Given the description of an element on the screen output the (x, y) to click on. 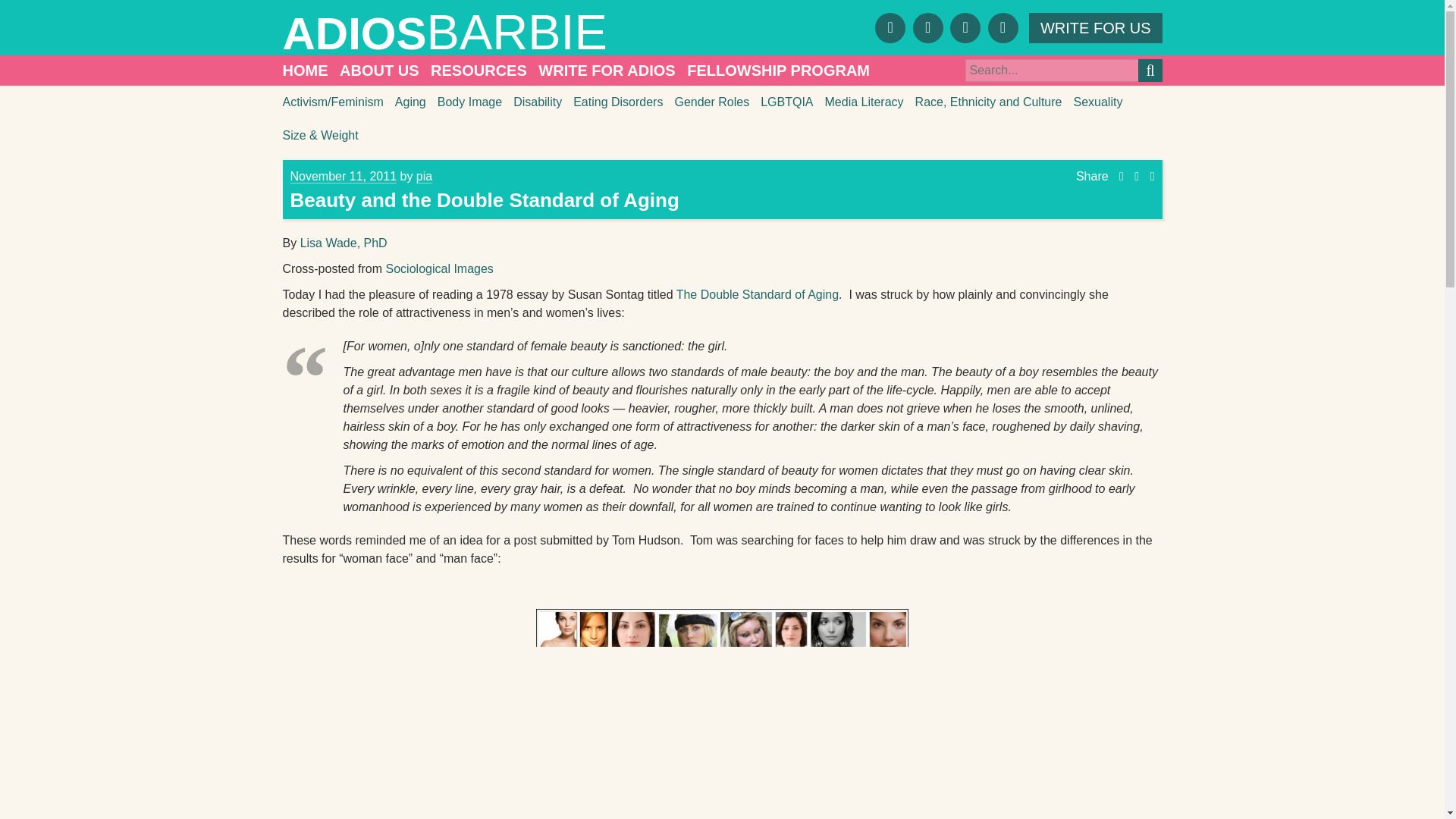
The Double Standard of Aging (757, 294)
Sociological Images (439, 268)
HOME (304, 70)
womenface (721, 705)
FELLOWSHIP PROGRAM (778, 70)
ABOUT US (379, 70)
WRITE FOR ADIOS (606, 70)
WRITE FOR US (1095, 27)
November 11, 2011 (342, 176)
Lisa Wade, PhD (343, 242)
